Given the description of an element on the screen output the (x, y) to click on. 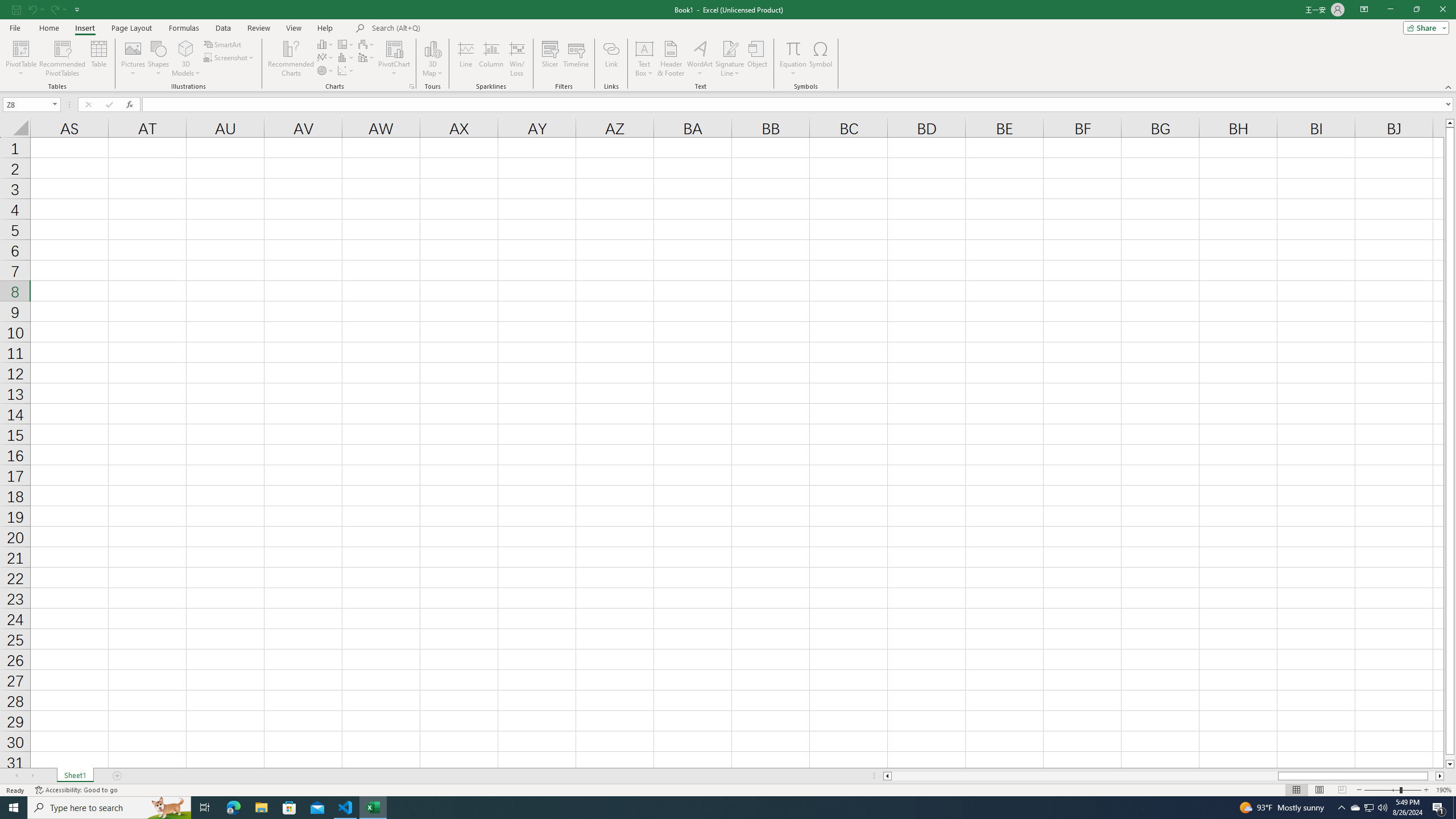
PivotTable (20, 58)
Insert Scatter (X, Y) or Bubble Chart (346, 69)
Formula Bar (798, 104)
Quick Access Toolbar (46, 9)
Insert Waterfall, Funnel, Stock, Surface, or Radar Chart (366, 44)
Sheet1 (74, 775)
SmartArt... (223, 44)
Microsoft search (450, 28)
PivotChart (394, 48)
